Given the description of an element on the screen output the (x, y) to click on. 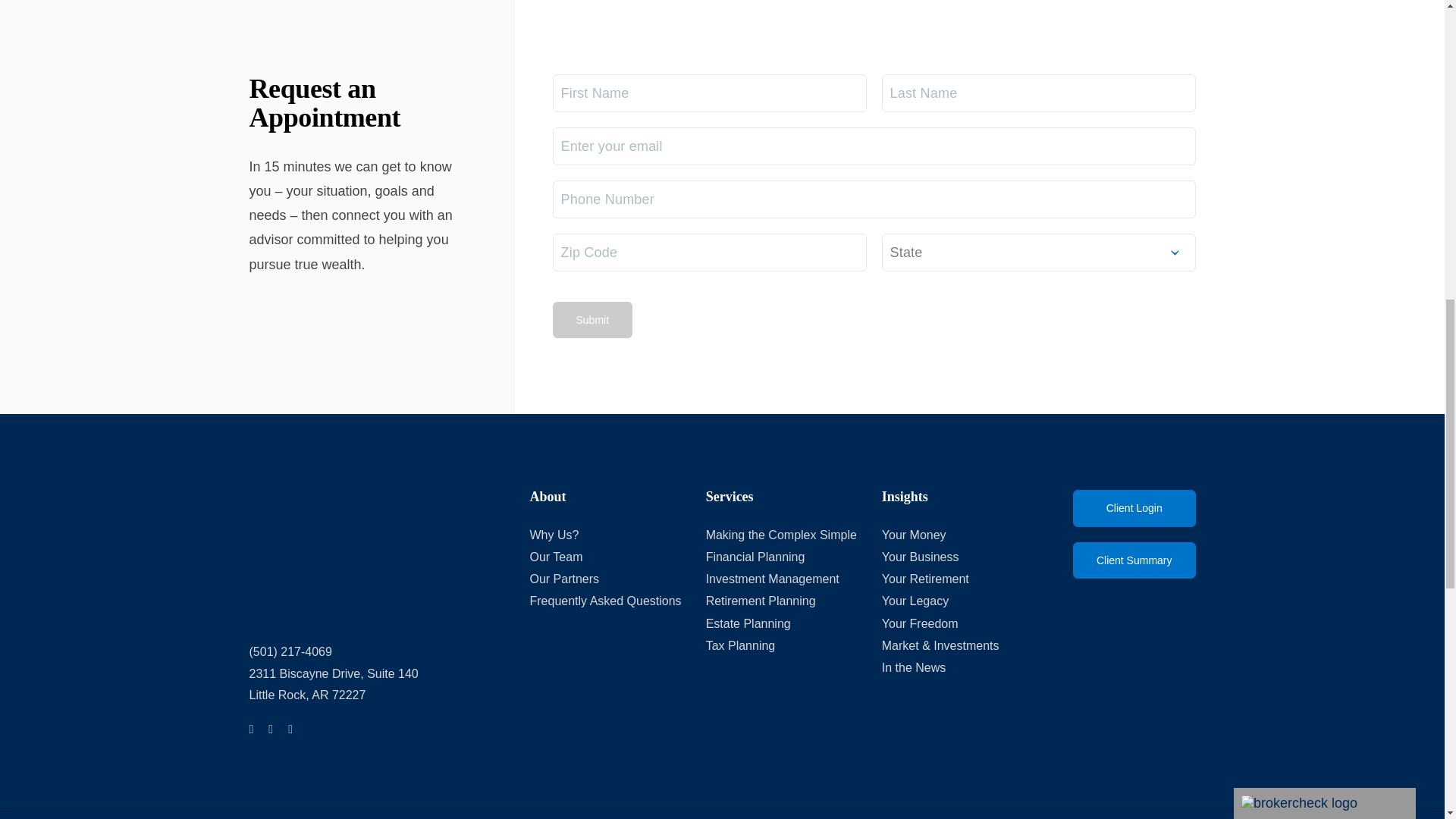
Submit (591, 320)
